Given the description of an element on the screen output the (x, y) to click on. 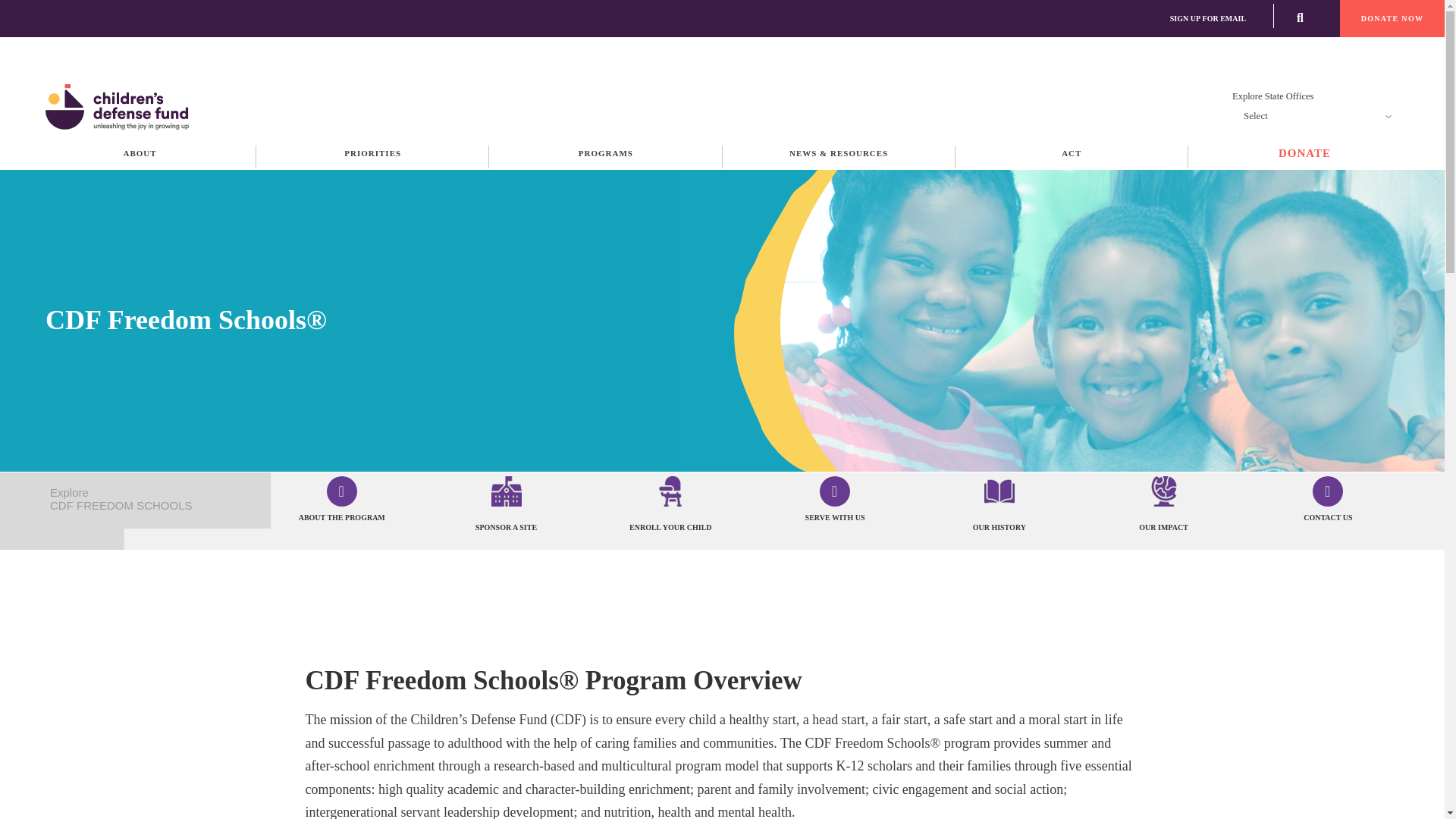
PRIORITIES (372, 153)
ABOUT (139, 153)
PROGRAMS (605, 153)
Sign Up for Email (1208, 18)
